Given the description of an element on the screen output the (x, y) to click on. 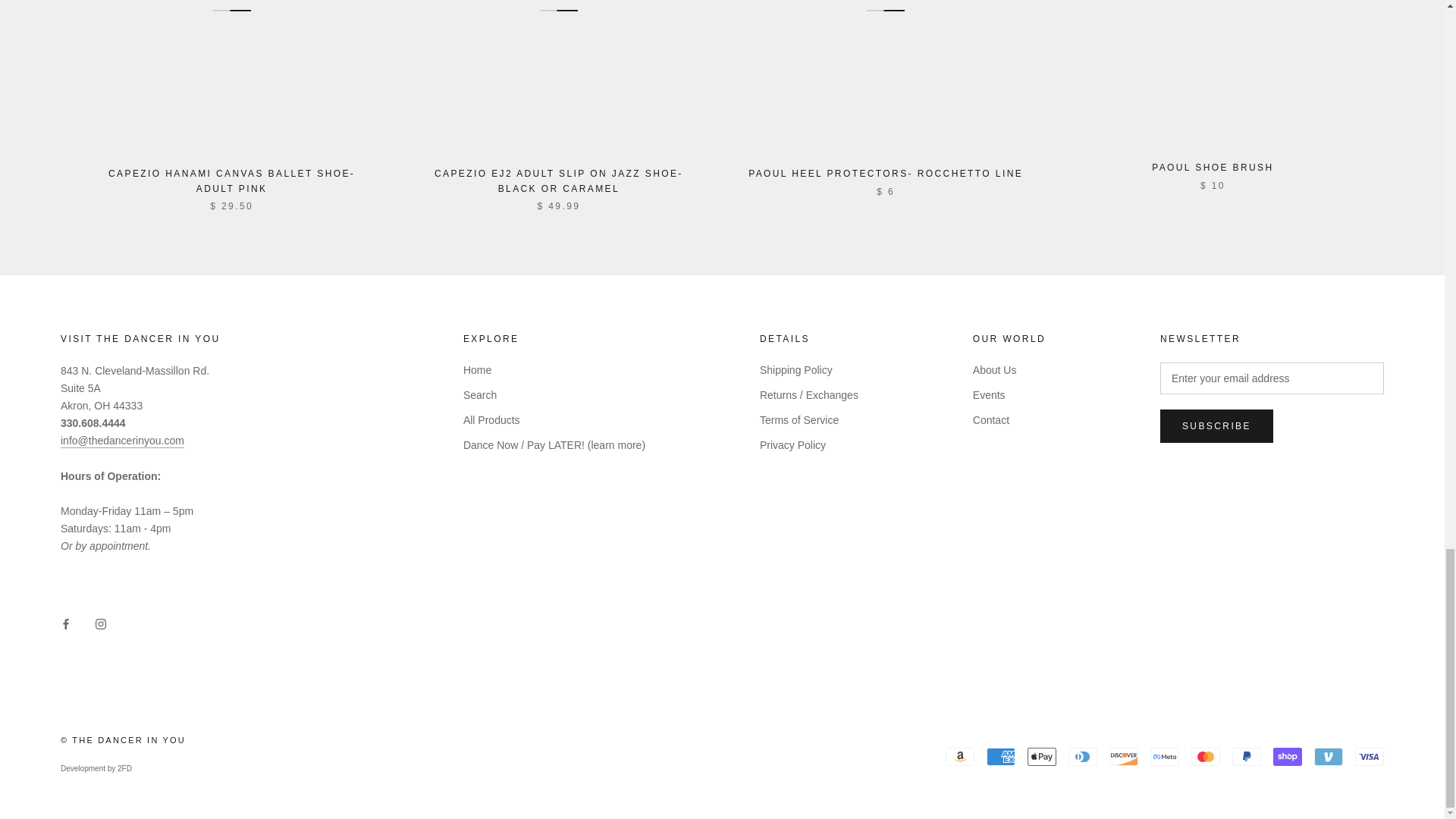
Meta Pay (1164, 756)
Discover (1123, 756)
Mastercard (1205, 756)
Shop Pay (1286, 756)
Diners Club (1082, 756)
Apple Pay (1042, 756)
Amazon (959, 756)
American Express (1000, 756)
PayPal (1245, 756)
